Given the description of an element on the screen output the (x, y) to click on. 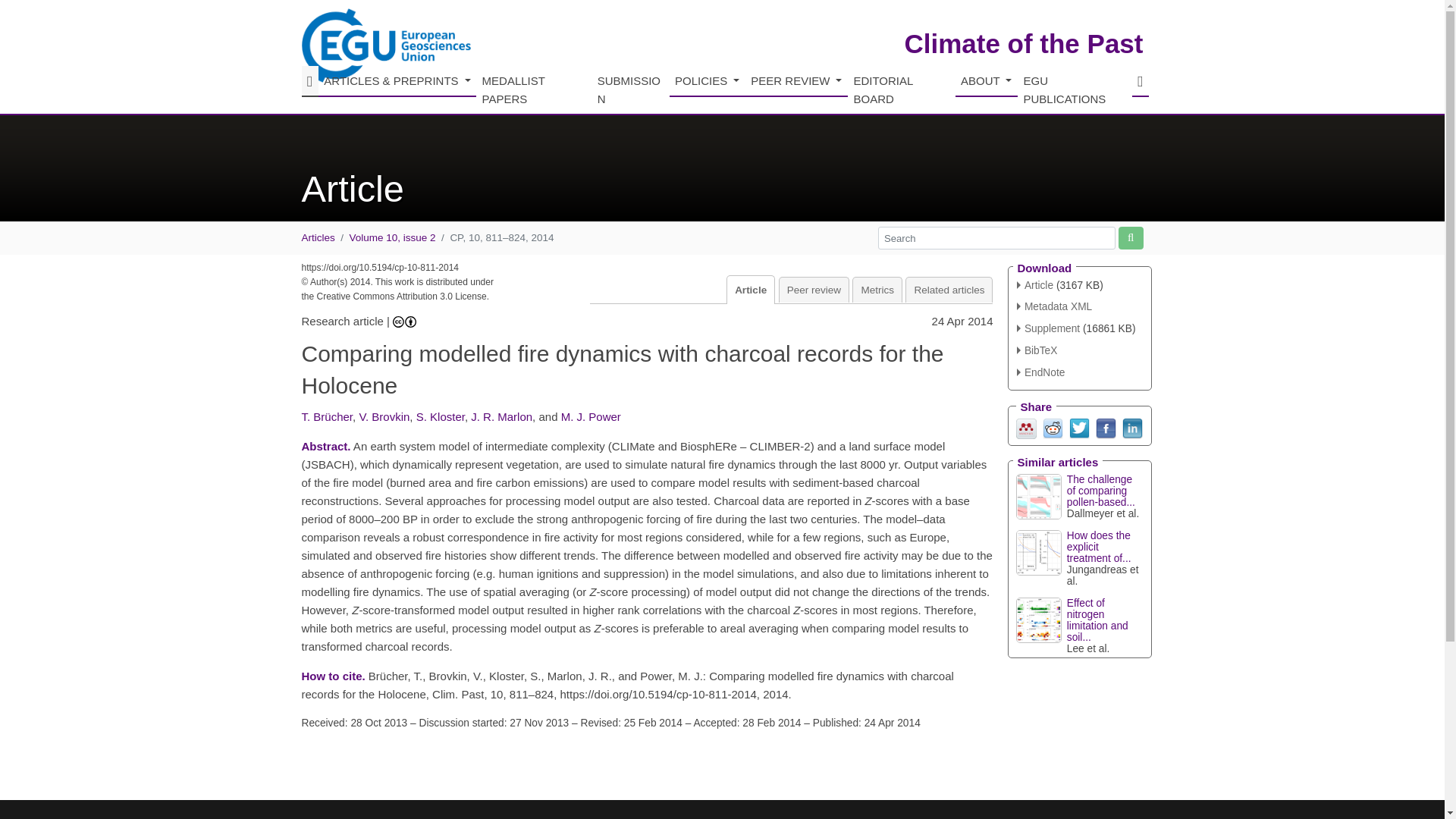
XML Version (1054, 306)
Start site search (1130, 237)
Facebook (1104, 427)
Climate of the Past (1023, 43)
Mendeley (1026, 427)
POLICIES (707, 81)
Reddit (1052, 427)
SUBMISSION (629, 90)
Twitter (1078, 427)
PEER REVIEW (796, 81)
